Given the description of an element on the screen output the (x, y) to click on. 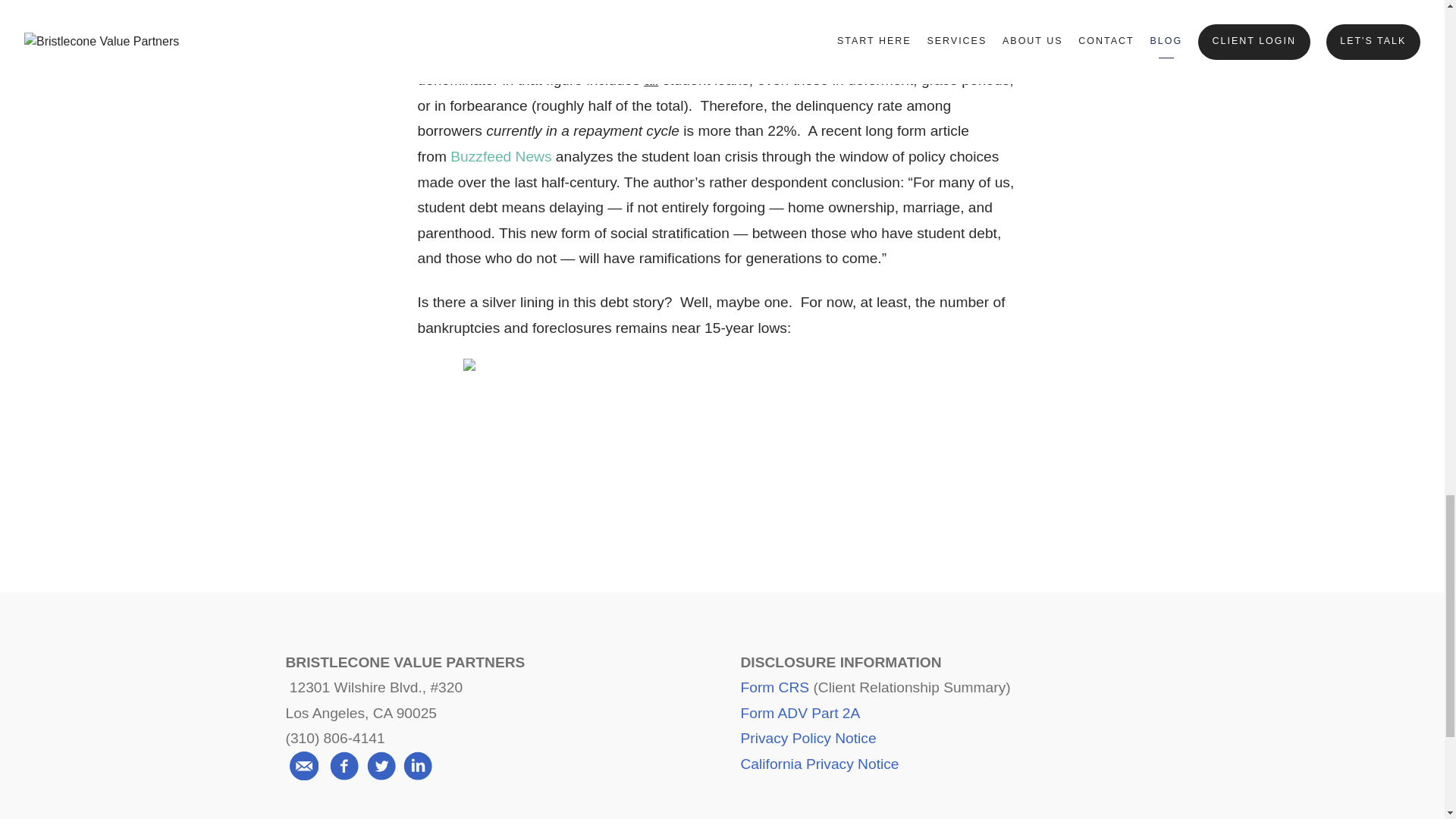
California Privacy Notice (818, 763)
Privacy Policy Notice (807, 738)
FACEBOOK (608, 490)
TWITTER (722, 490)
LINKEDIN (836, 490)
Buzzfeed News (500, 156)
Form CRS (774, 687)
Form ADV Part 2A (799, 713)
